Given the description of an element on the screen output the (x, y) to click on. 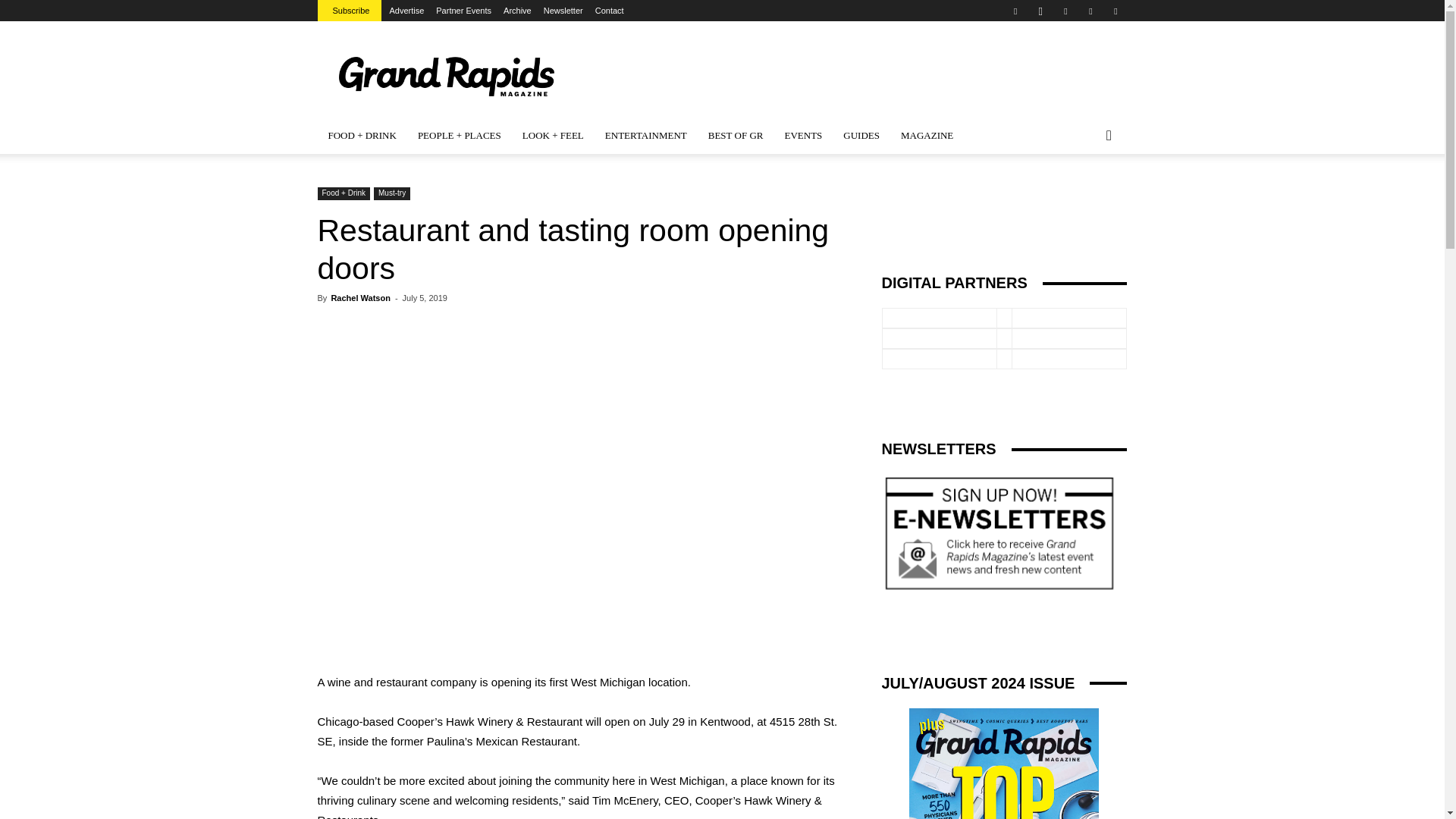
Posts by Rachel Watson (360, 297)
Twitter (1090, 10)
Instagram (1040, 10)
Facebook (1015, 10)
Pinterest (1065, 10)
Youtube (1114, 10)
